Given the description of an element on the screen output the (x, y) to click on. 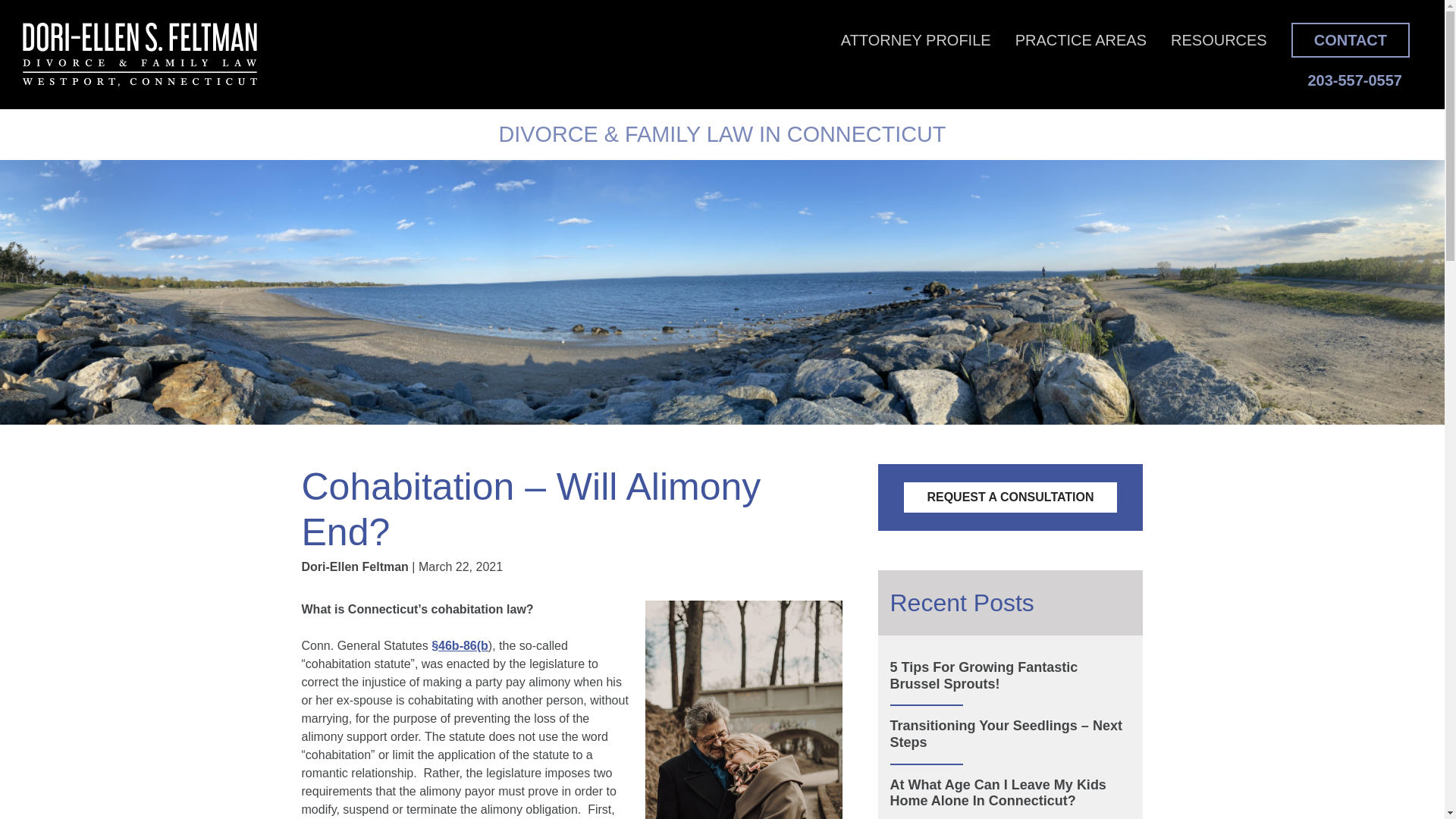
ATTORNEY PROFILE (916, 39)
5 Tips For Growing Fantastic Brussel Sprouts! (1009, 676)
PRACTICE AREAS (1080, 39)
REQUEST A CONSULTATION (1010, 497)
RESOURCES (1218, 39)
CONTACT (1350, 39)
